Given the description of an element on the screen output the (x, y) to click on. 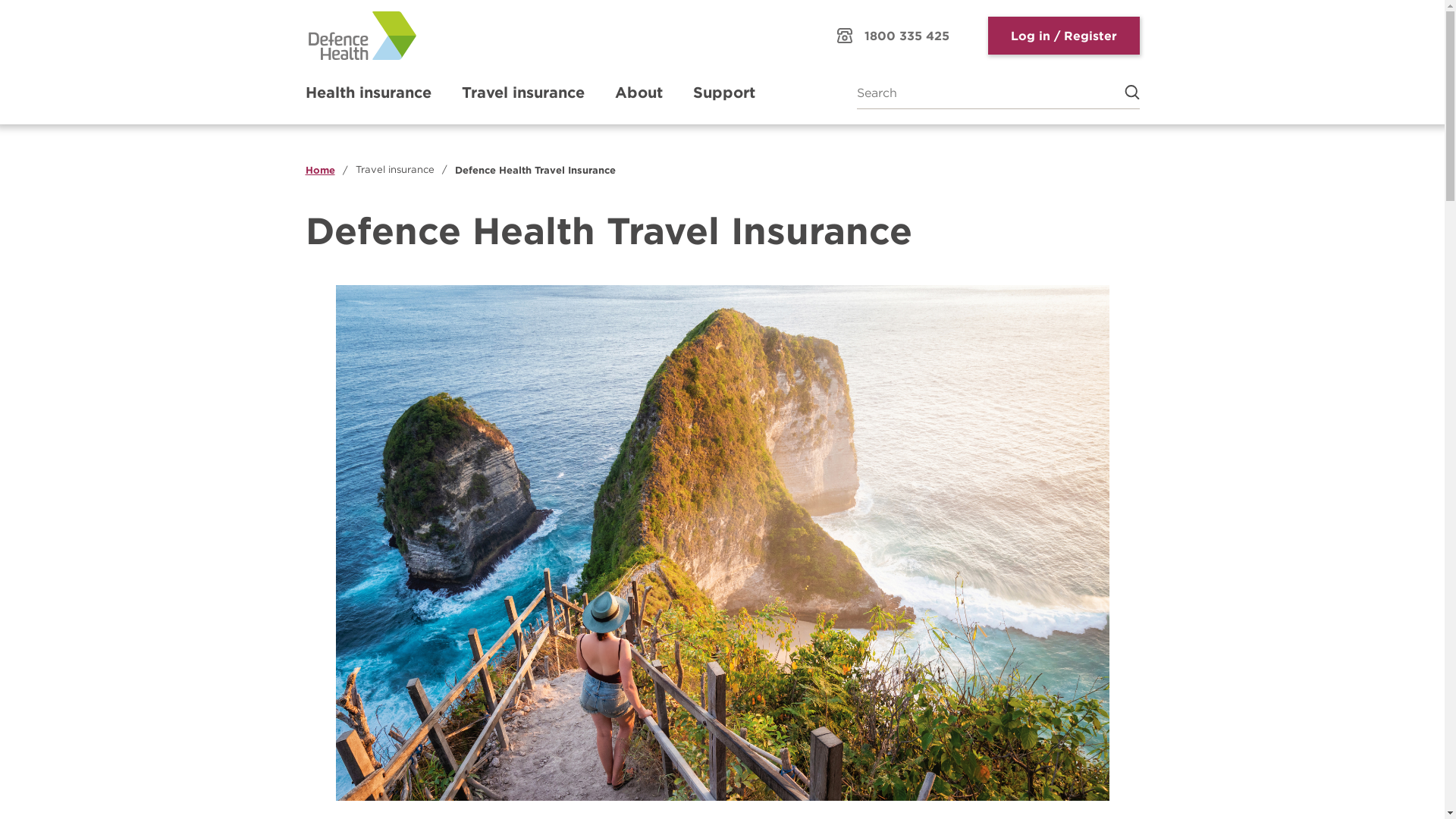
About Element type: text (638, 92)
Travel insurance Element type: text (393, 169)
search Element type: text (1123, 92)
Support Element type: text (724, 92)
1800 335 425 Element type: text (893, 35)
Defence Health Travel Insurance Element type: text (535, 169)
Health insurance Element type: text (367, 92)
Log in / Register Element type: text (1063, 35)
Travel insurance Element type: text (522, 92)
Home Element type: text (319, 169)
